Given the description of an element on the screen output the (x, y) to click on. 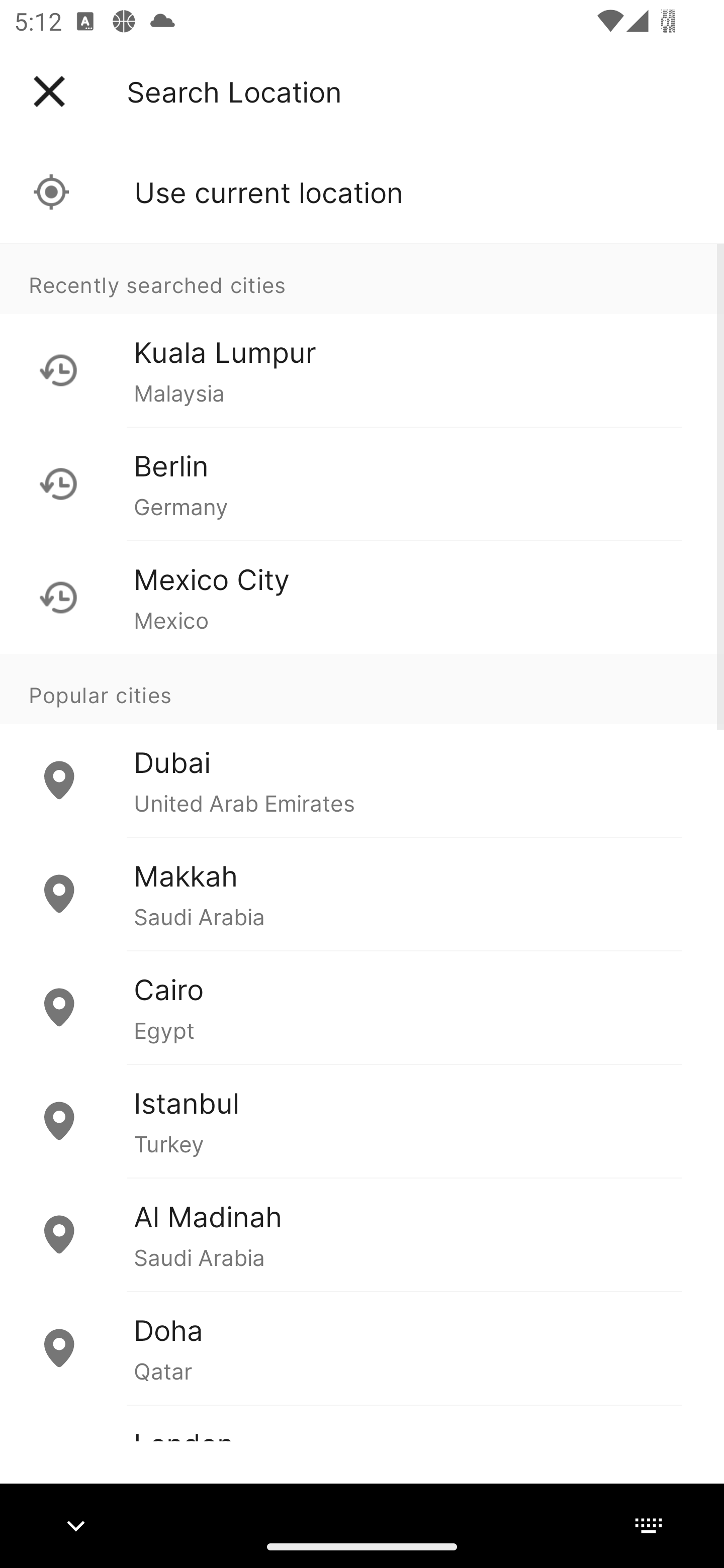
Search Location (234, 91)
Use current location (362, 192)
Recently searched cities Kuala Lumpur Malaysia (362, 334)
Recently searched cities (362, 278)
Berlin Germany (362, 483)
Mexico City Mexico (362, 596)
Popular cities Dubai United Arab Emirates (362, 745)
Popular cities (362, 688)
Makkah Saudi Arabia (362, 893)
Cairo Egypt (362, 1007)
Istanbul Turkey (362, 1120)
Al Madinah Saudi Arabia (362, 1233)
Doha Qatar (362, 1347)
